Given the description of an element on the screen output the (x, y) to click on. 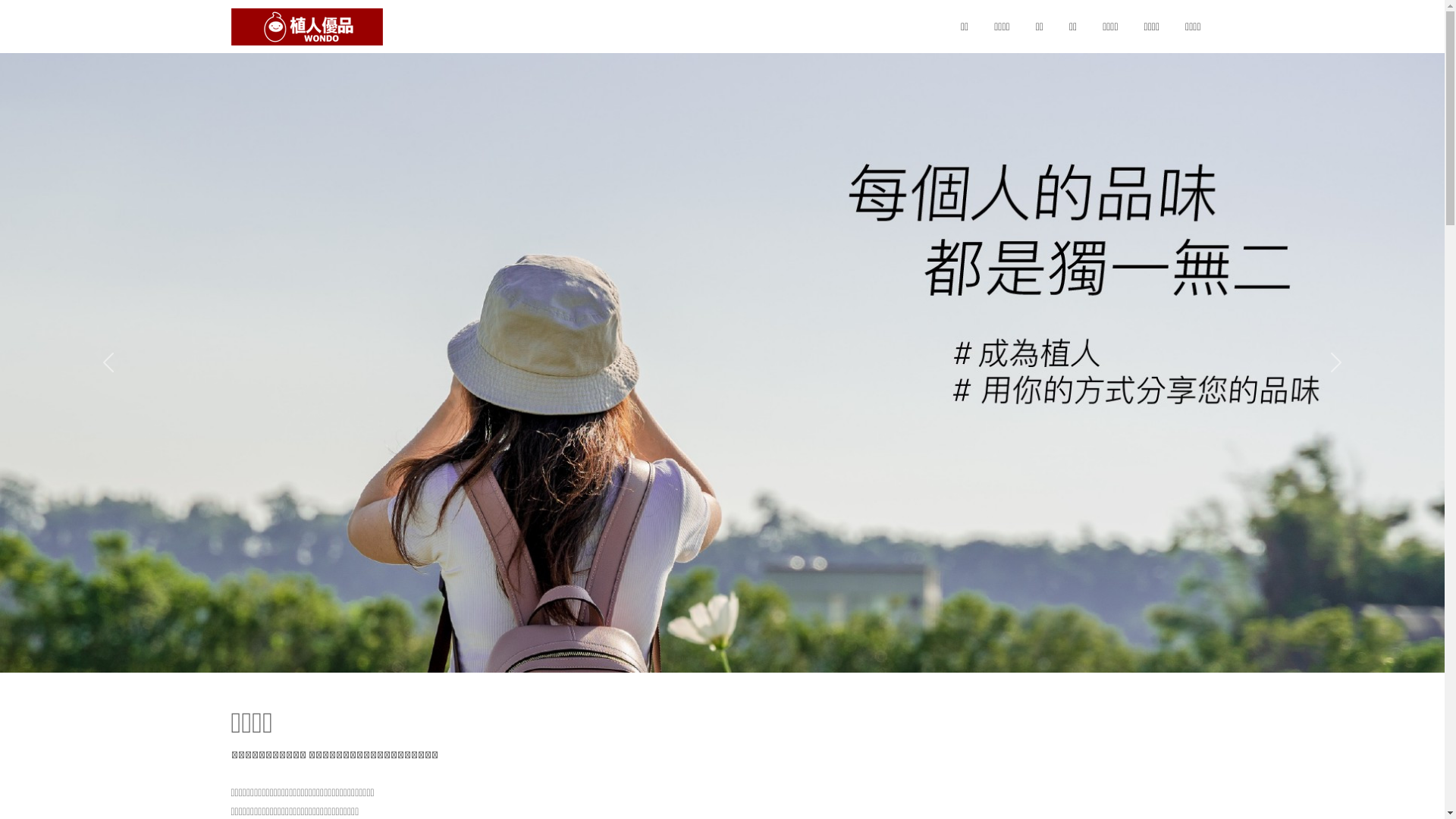
Previous Element type: text (108, 362)
Next Element type: text (1335, 362)
